Given the description of an element on the screen output the (x, y) to click on. 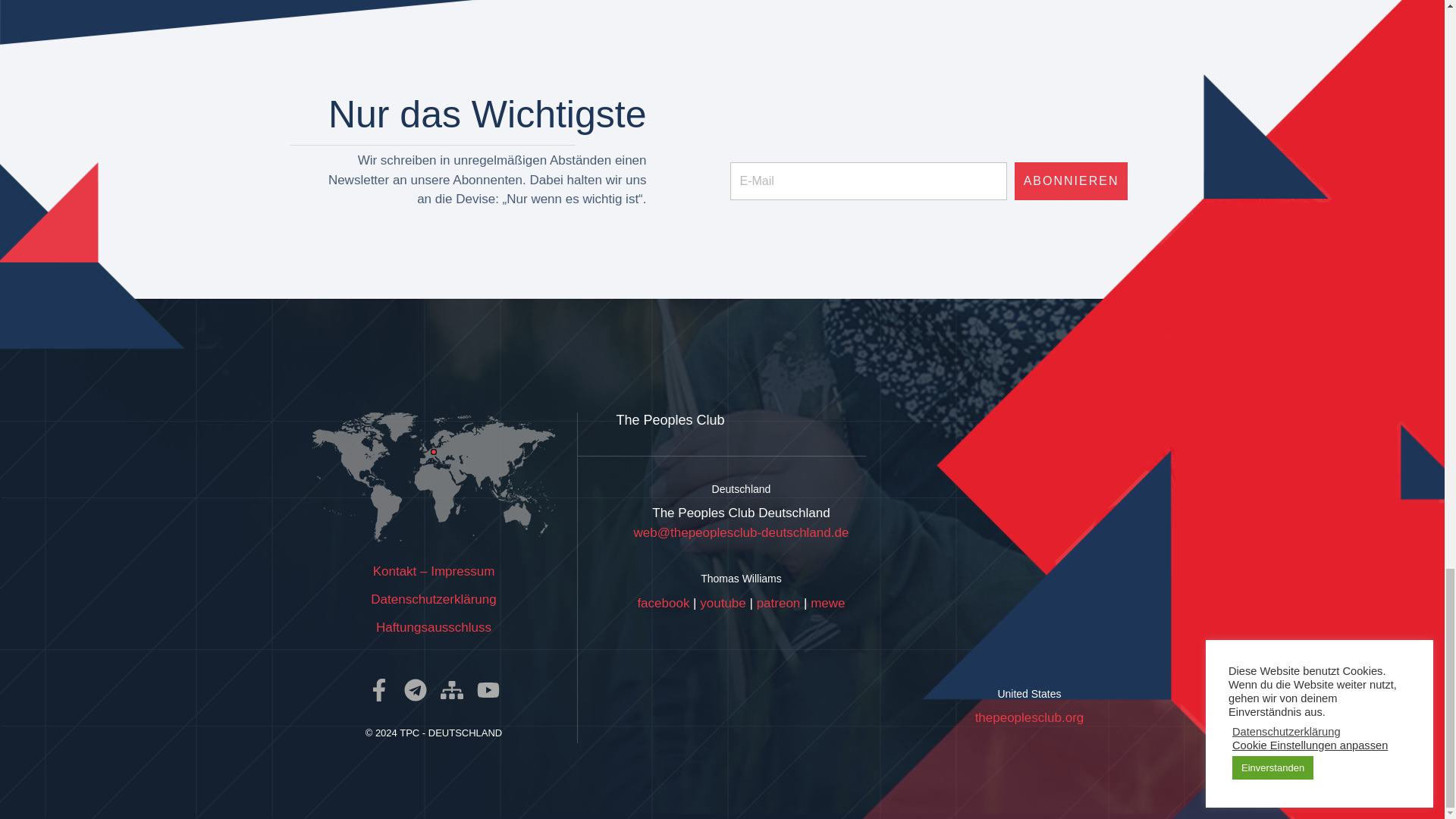
Abonnieren (1071, 180)
Haftungsausschluss (432, 627)
Abonnieren (1071, 180)
